Given the description of an element on the screen output the (x, y) to click on. 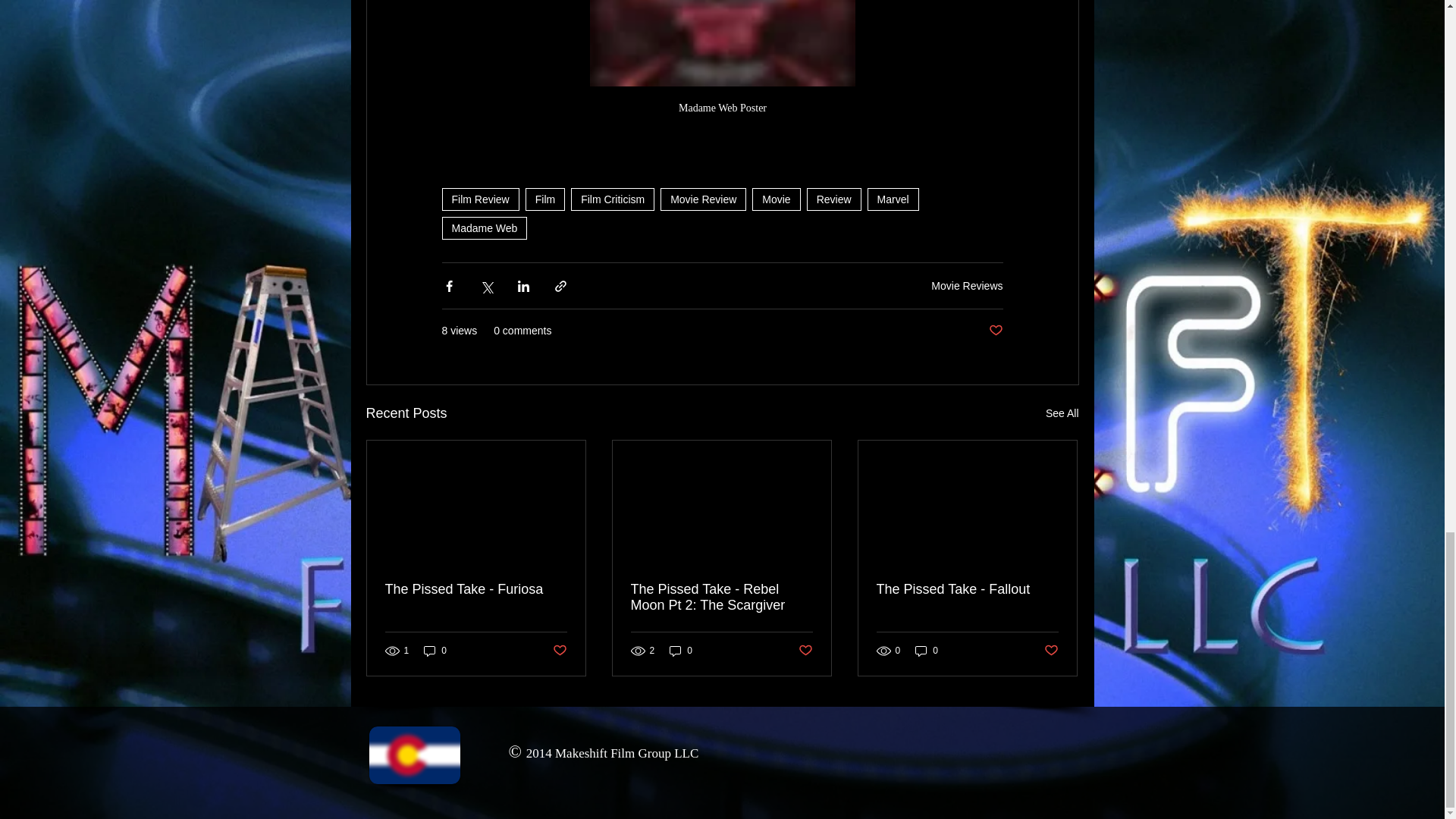
Post not marked as liked (558, 650)
Post not marked as liked (995, 330)
0 (435, 650)
Film Review (479, 199)
Post not marked as liked (1050, 650)
Review (833, 199)
0 (926, 650)
Marvel (892, 199)
Film (544, 199)
The Pissed Take - Fallout (967, 589)
Movie Review (703, 199)
The Pissed Take - Rebel Moon Pt 2: The Scargiver (721, 597)
Madame Web (484, 228)
Film Criticism (611, 199)
Movie Reviews (967, 285)
